Given the description of an element on the screen output the (x, y) to click on. 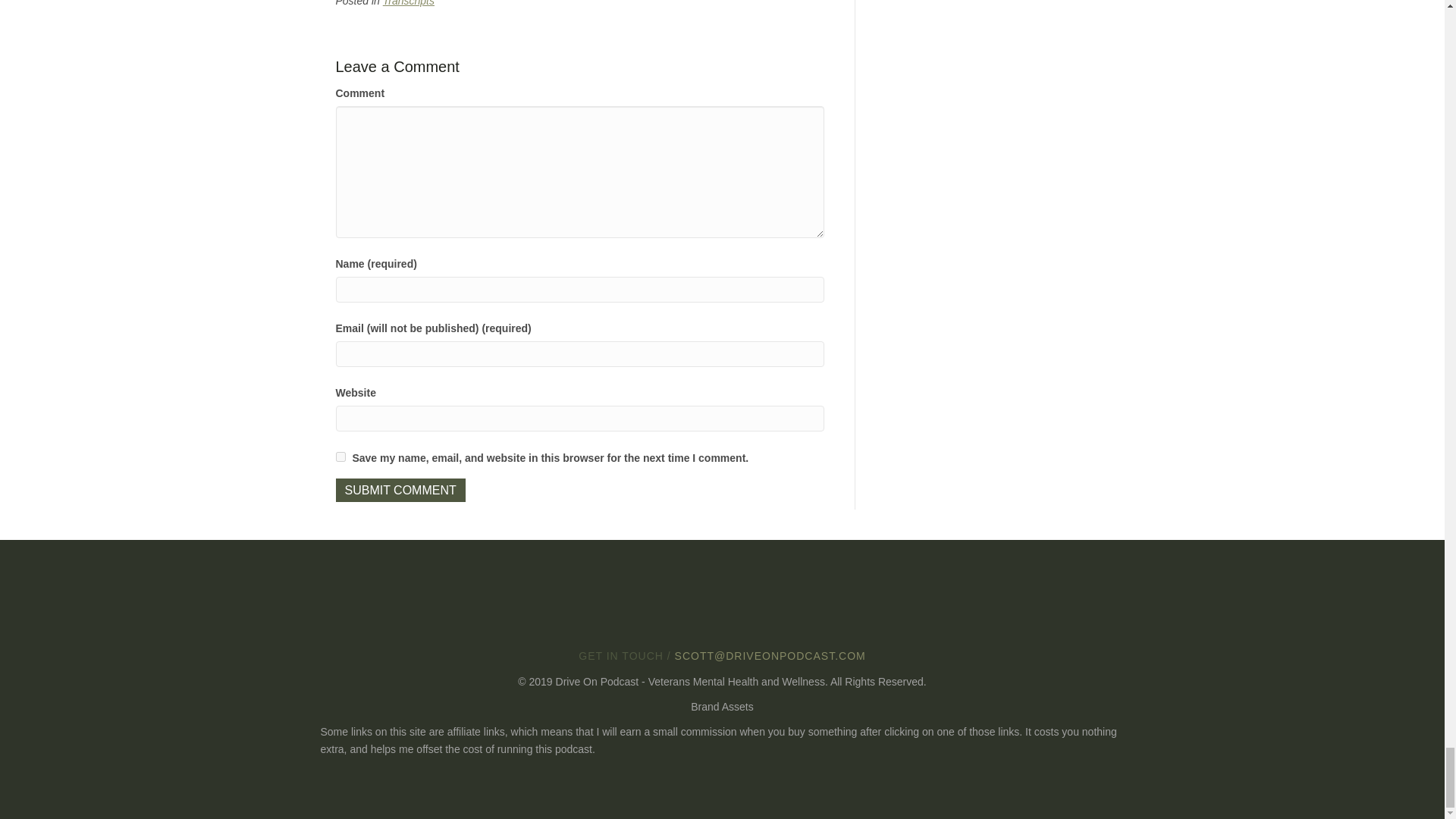
yes (339, 456)
Transcripts (407, 3)
Submit Comment (399, 490)
